Given the description of an element on the screen output the (x, y) to click on. 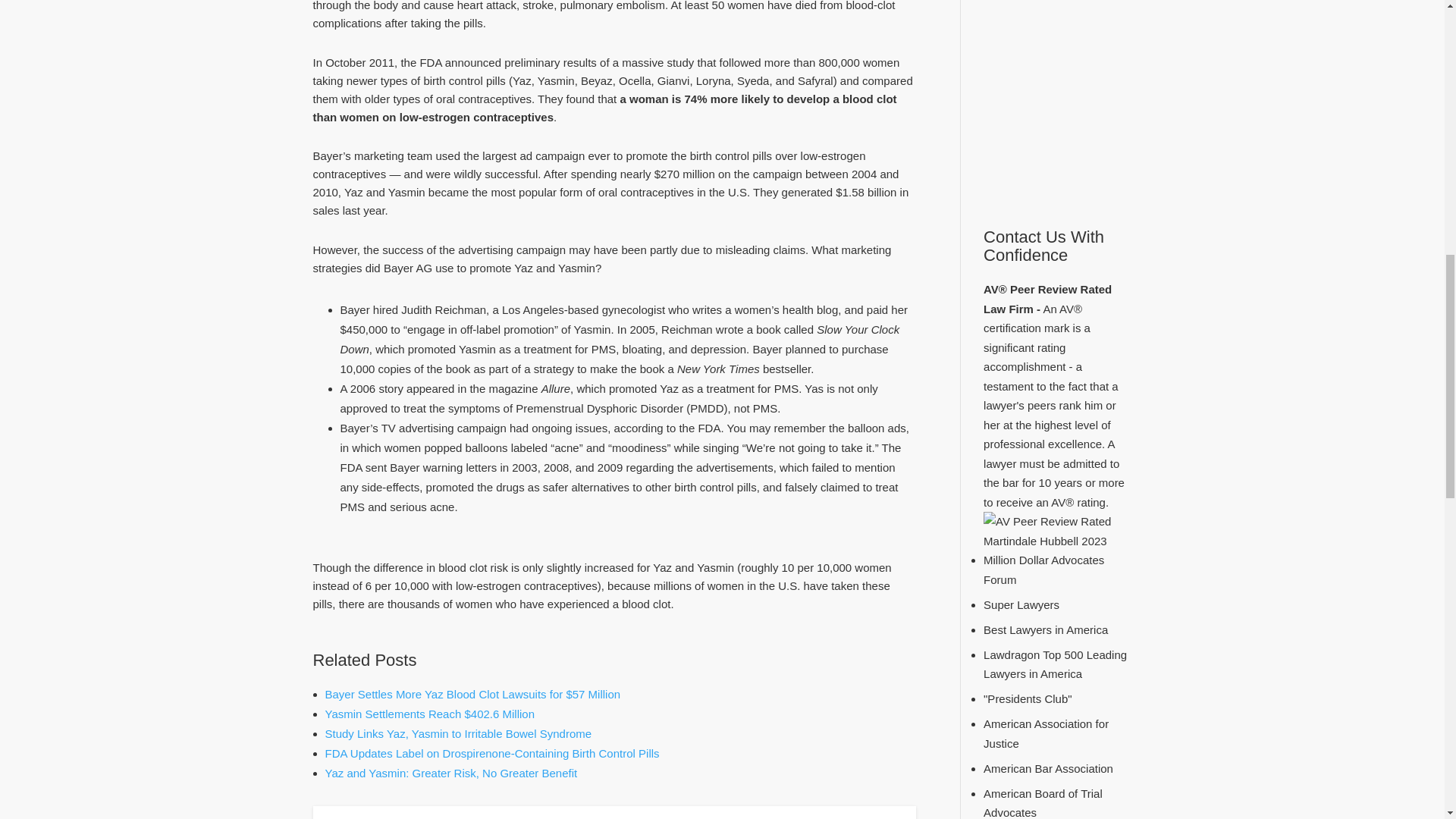
Study Links Yaz, Yasmin to Irritable Bowel Syndrome (457, 733)
Yaz and Yasmin: Greater Risk, No Greater Benefit (450, 772)
